Given the description of an element on the screen output the (x, y) to click on. 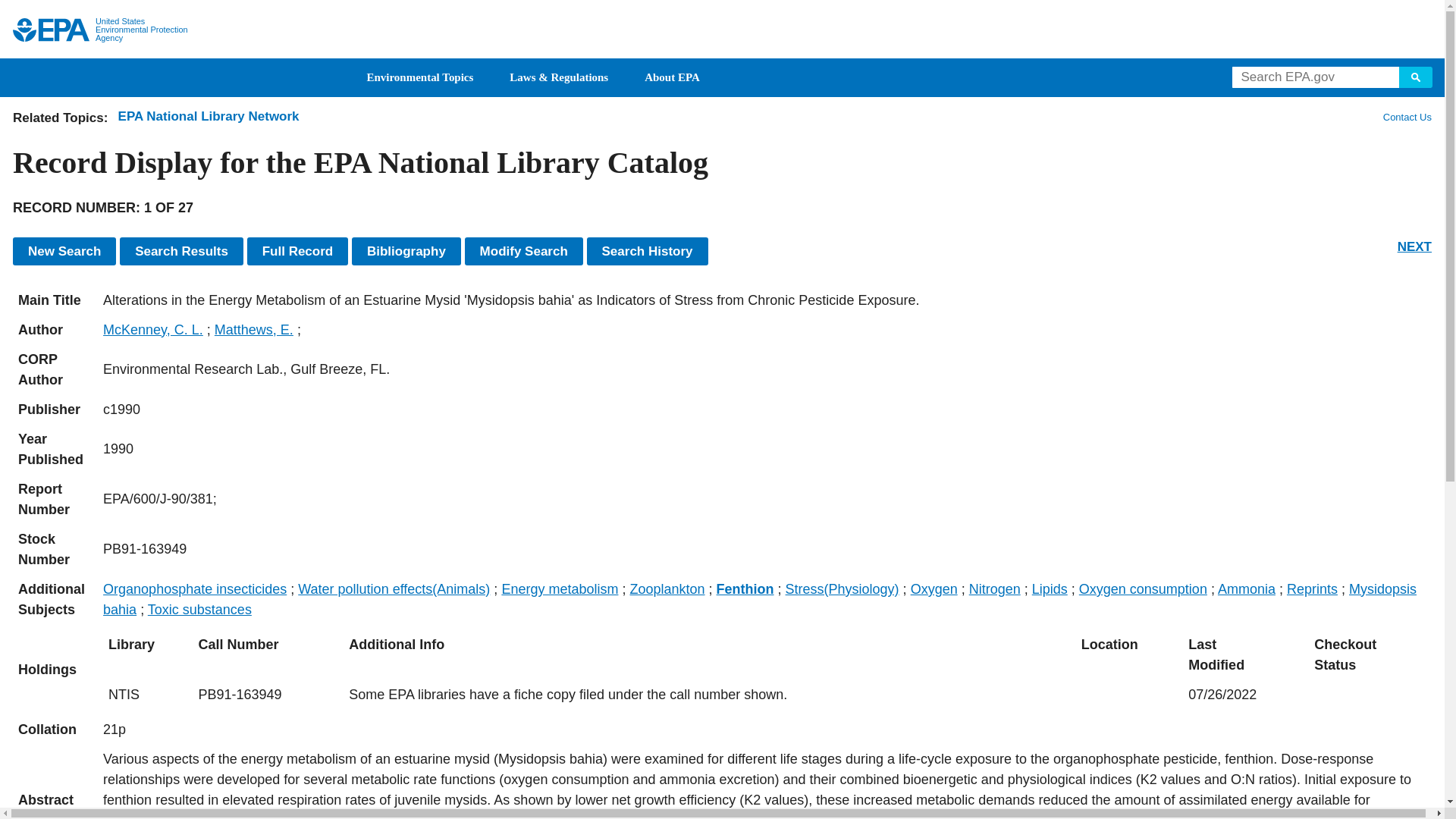
Search (1415, 76)
Reprints (1312, 589)
Contact the EPA National Library Network (1407, 117)
Oxygen (934, 589)
Modify the existing search criteria (523, 251)
Mysidopsis bahia (759, 599)
Zooplankton (666, 589)
Energy metabolism (558, 589)
Learn about Environmental Topics that EPA covers. (420, 77)
Modify Search (523, 251)
full length text available by clicking full record (764, 784)
New Search (64, 251)
Fenthion (745, 589)
Organophosphate insecticides (194, 589)
